Given the description of an element on the screen output the (x, y) to click on. 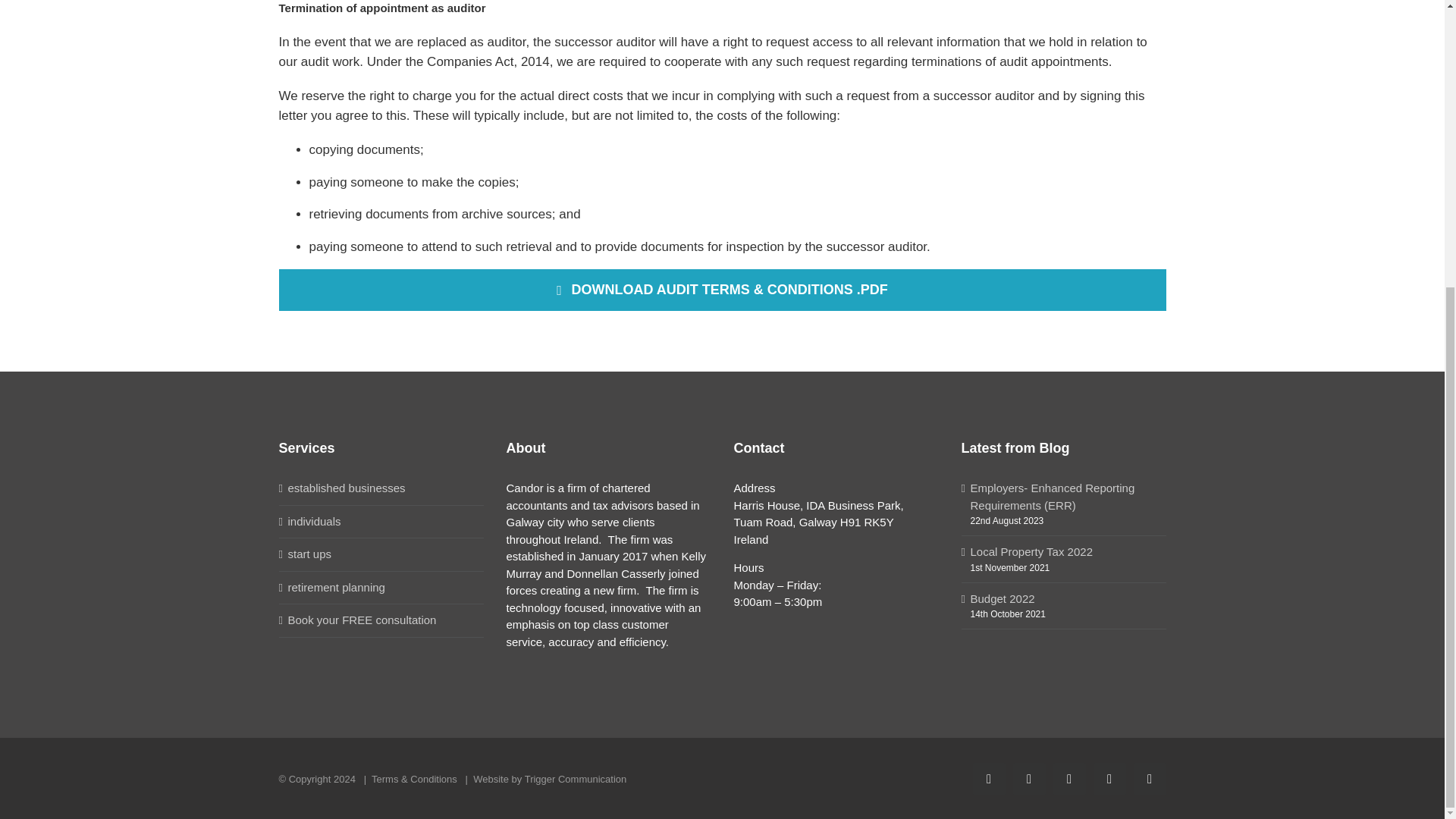
YouTube (1149, 778)
individuals (382, 521)
Instagram (1109, 778)
Instagram (1109, 778)
Book your FREE consultation (382, 620)
Facebook (1068, 778)
Local Property Tax 2022 (1064, 552)
Budget 2022 (1064, 599)
start ups (382, 554)
Facebook (1068, 778)
